Given the description of an element on the screen output the (x, y) to click on. 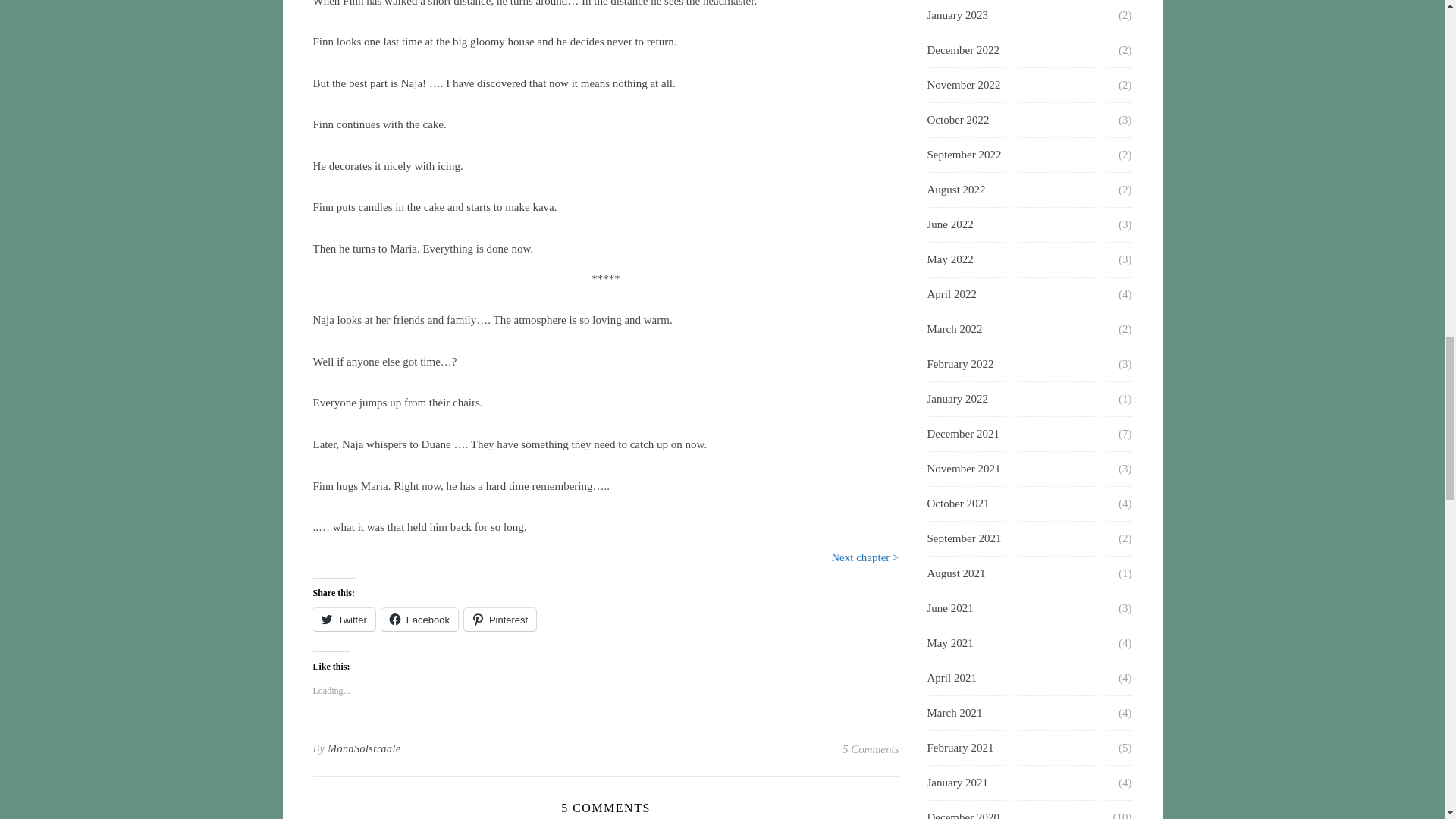
Click to share on Facebook (419, 619)
Click to share on Twitter (343, 619)
Posts by MonaSolstraale (363, 748)
Click to share on Pinterest (499, 619)
